Given the description of an element on the screen output the (x, y) to click on. 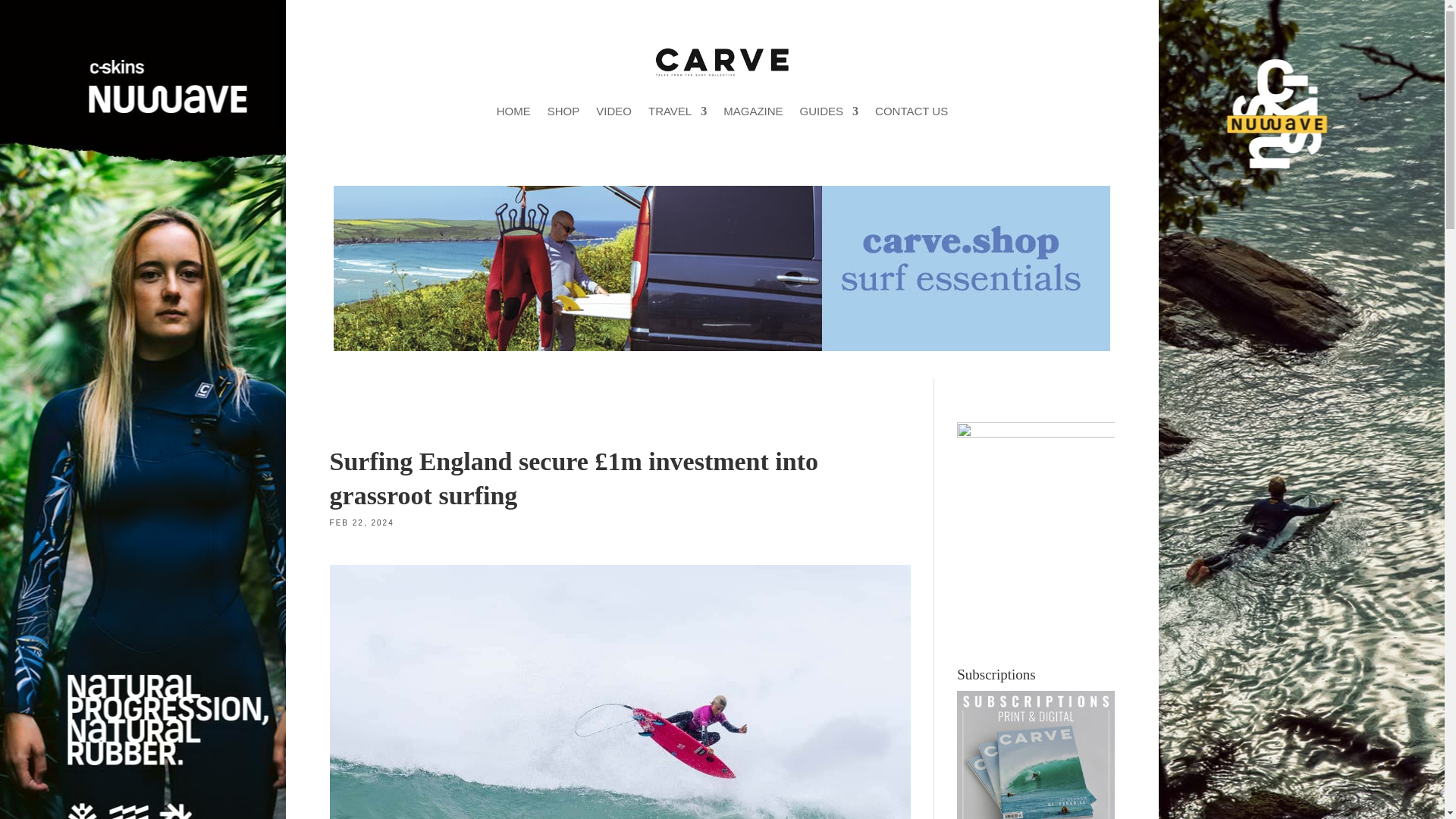
MAGAZINE (753, 111)
TRAVEL (676, 111)
Carve Surfing Magazine Guides (829, 111)
Contact Carve Surfing Magazine (911, 111)
CONTACT US (911, 111)
GUIDES (829, 111)
